Given the description of an element on the screen output the (x, y) to click on. 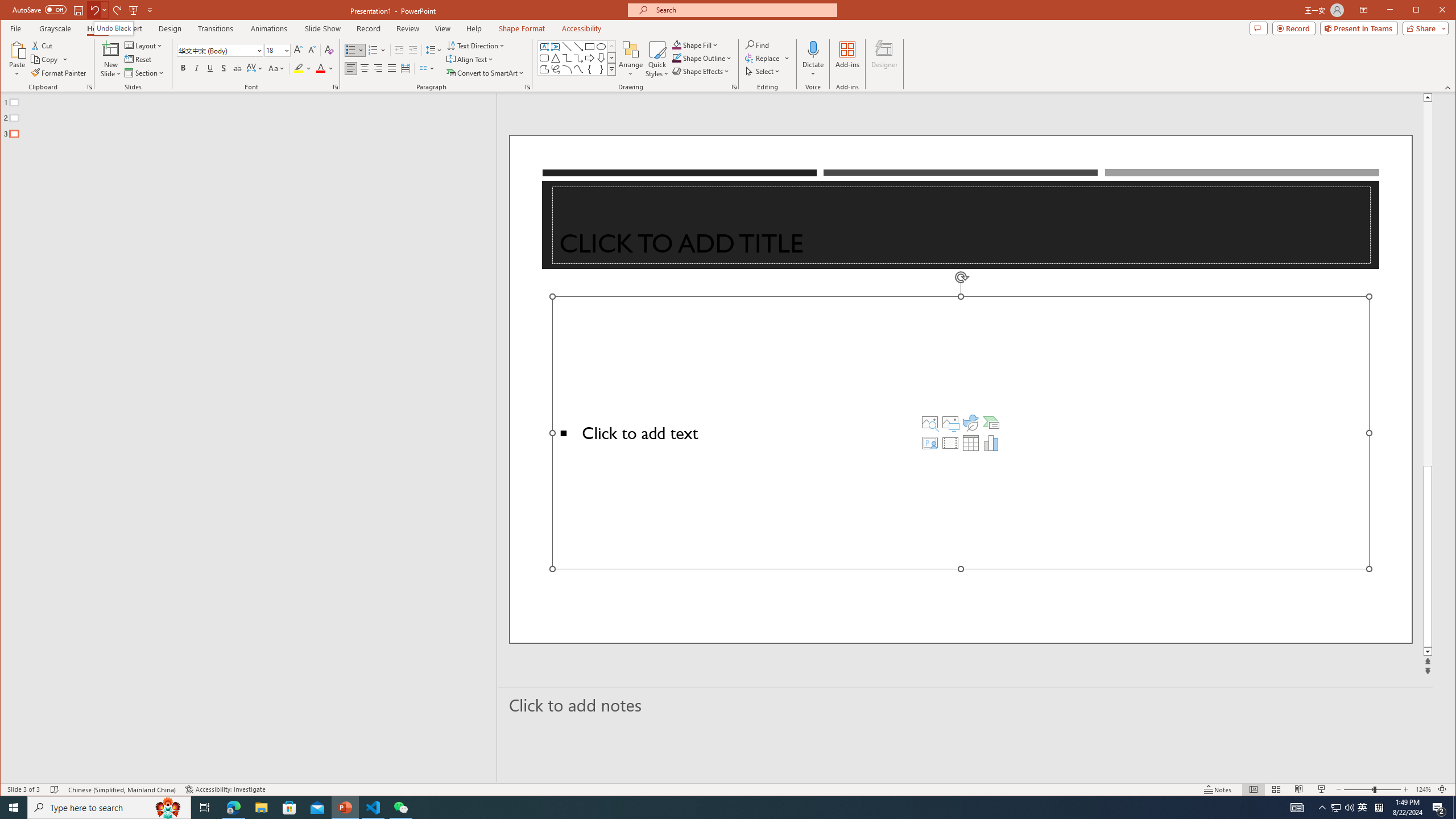
Increase Font Size (297, 49)
Insert Cameo (929, 443)
Format Object... (733, 86)
Line Spacing (433, 49)
Convert to SmartArt (485, 72)
Align Left (350, 68)
Maximize (1432, 11)
Numbering (376, 49)
